Given the description of an element on the screen output the (x, y) to click on. 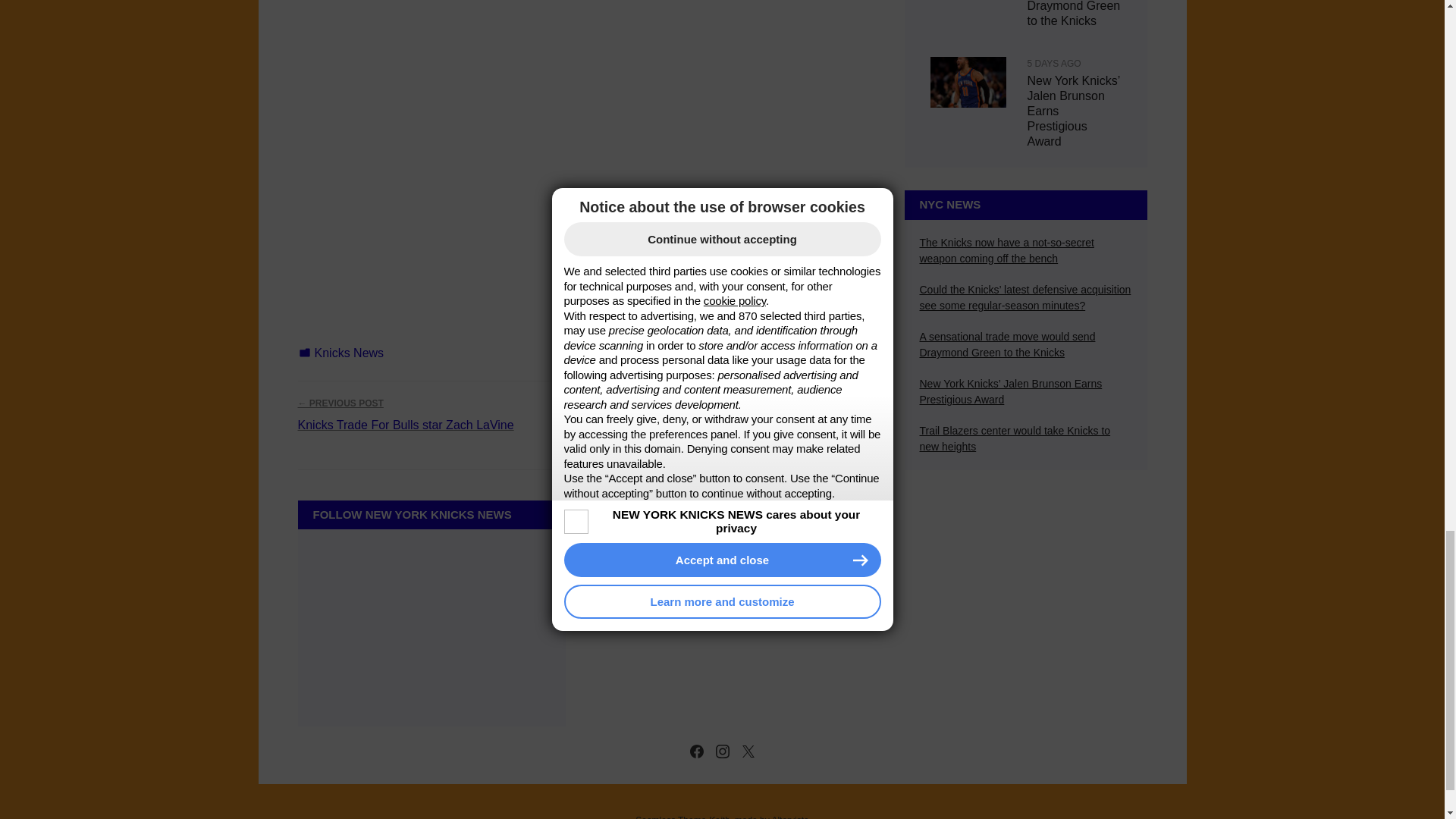
Facebook (696, 751)
Twitter (748, 751)
New York Knicks (828, 354)
Instagram (722, 751)
Knicks News (349, 352)
Knicks (755, 354)
